Given the description of an element on the screen output the (x, y) to click on. 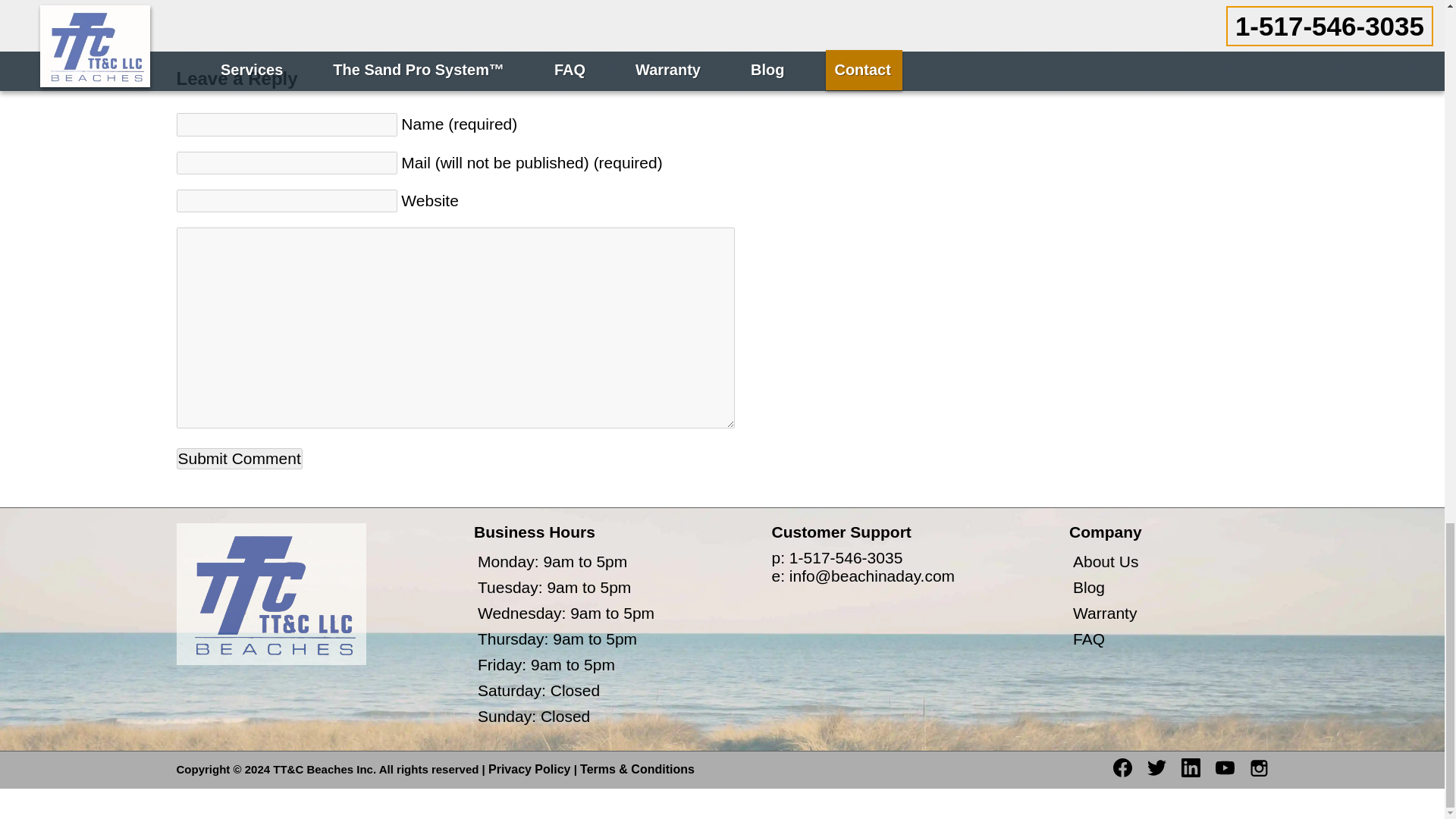
Warranty (1105, 612)
Blog (1089, 587)
Submit Comment (238, 458)
About Us (1105, 561)
1-517-546-3035 (845, 557)
Submit Comment (238, 458)
FAQ (1089, 638)
Privacy Policy (528, 768)
